Given the description of an element on the screen output the (x, y) to click on. 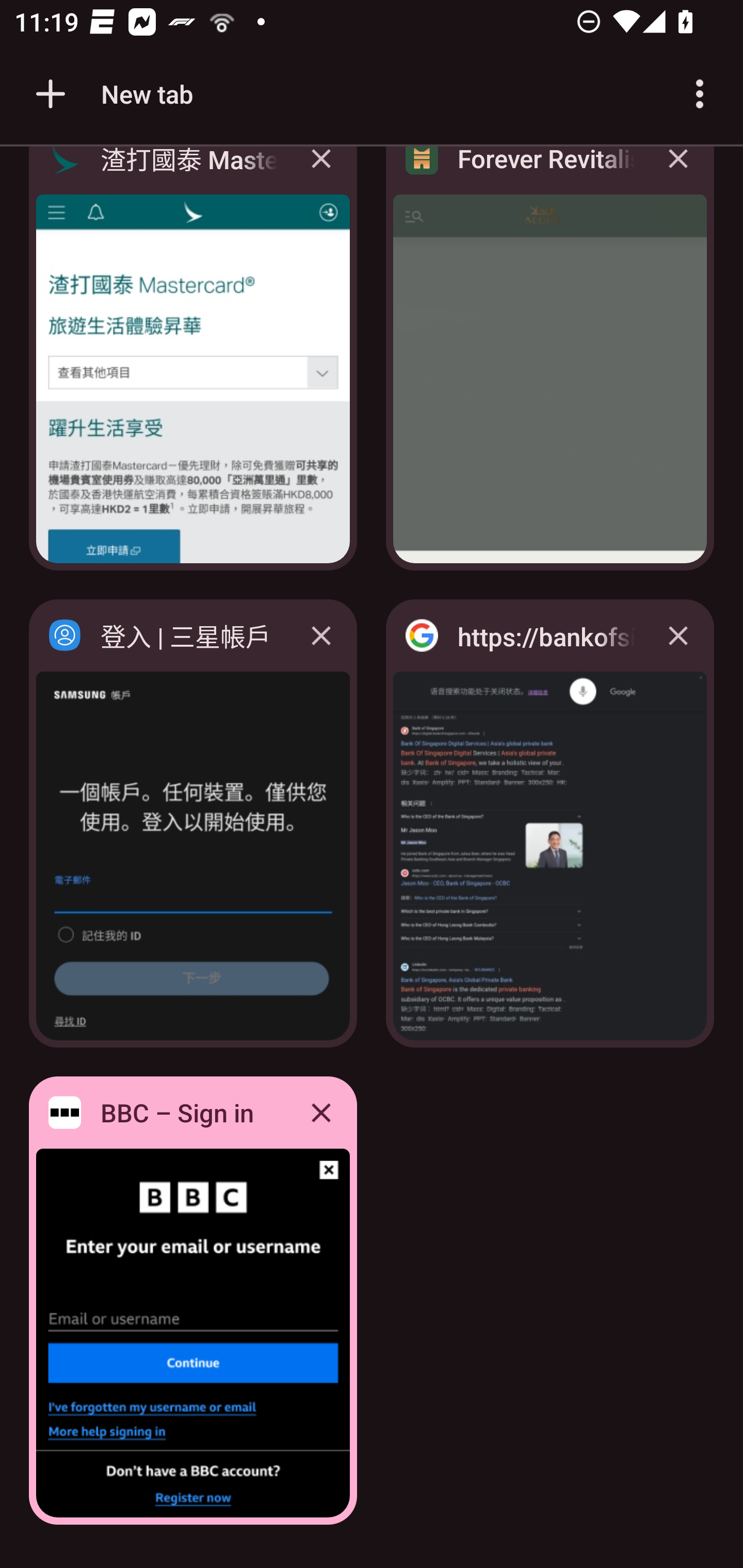
New tab (111, 93)
Customize and control Google Chrome (699, 93)
Close 渣打國泰 Mastercard－優先理財 tab (320, 173)
Close Forever Revitalising | Experience AlUla tab (677, 173)
登入 | 三星帳戶 登入 | 三星帳戶, tab Close 登入 | 三星帳戶 tab (192, 822)
Close 登入 | 三星帳戶 tab (320, 635)
Close BBC – Sign in tab (320, 1112)
